Given the description of an element on the screen output the (x, y) to click on. 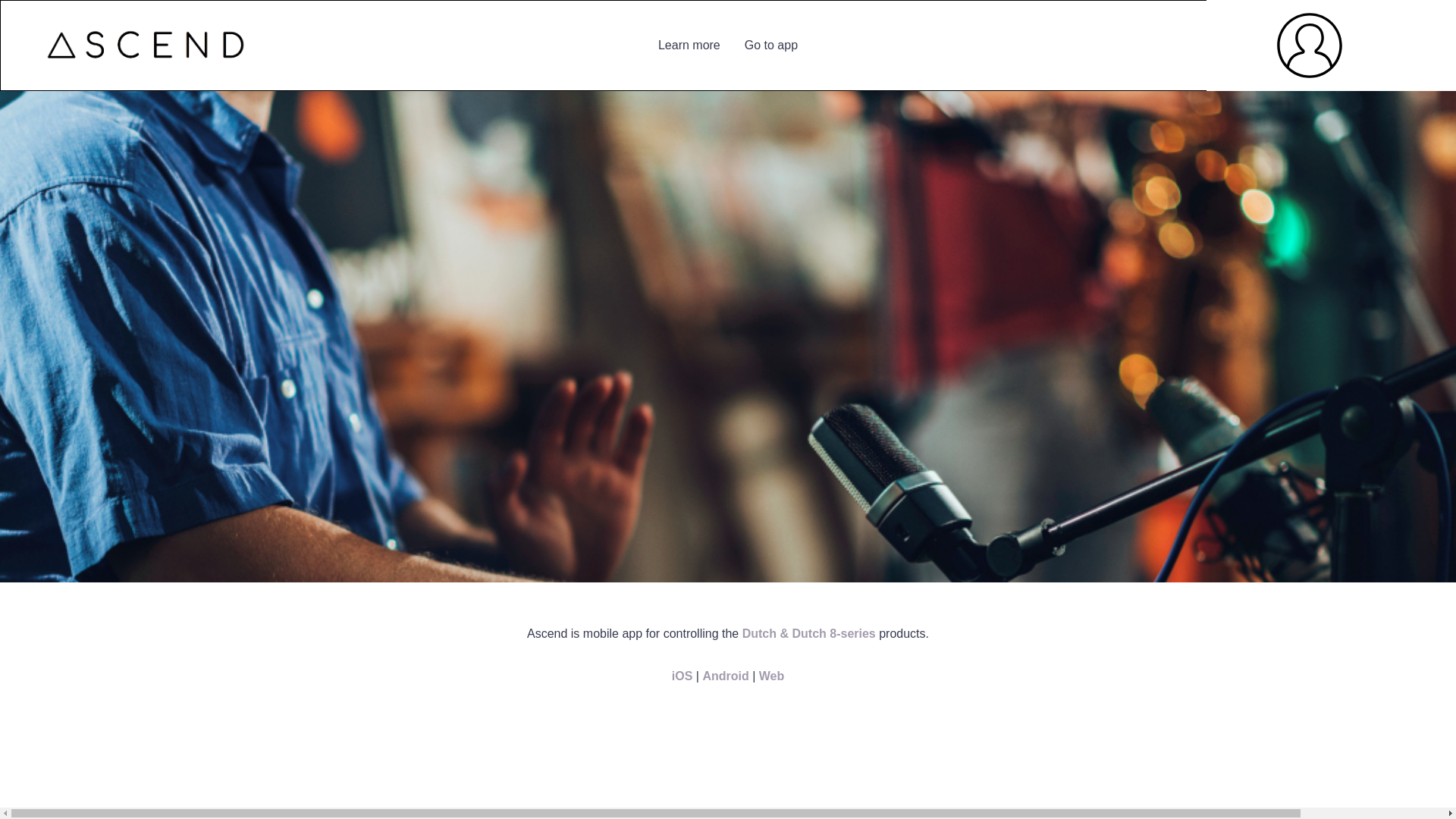
Go to app Element type: text (770, 45)
Learn more Element type: text (689, 45)
Dutch & Dutch 8-series Element type: text (808, 633)
iOS Element type: text (682, 675)
Android Element type: text (725, 675)
Web Element type: text (771, 675)
